Given the description of an element on the screen output the (x, y) to click on. 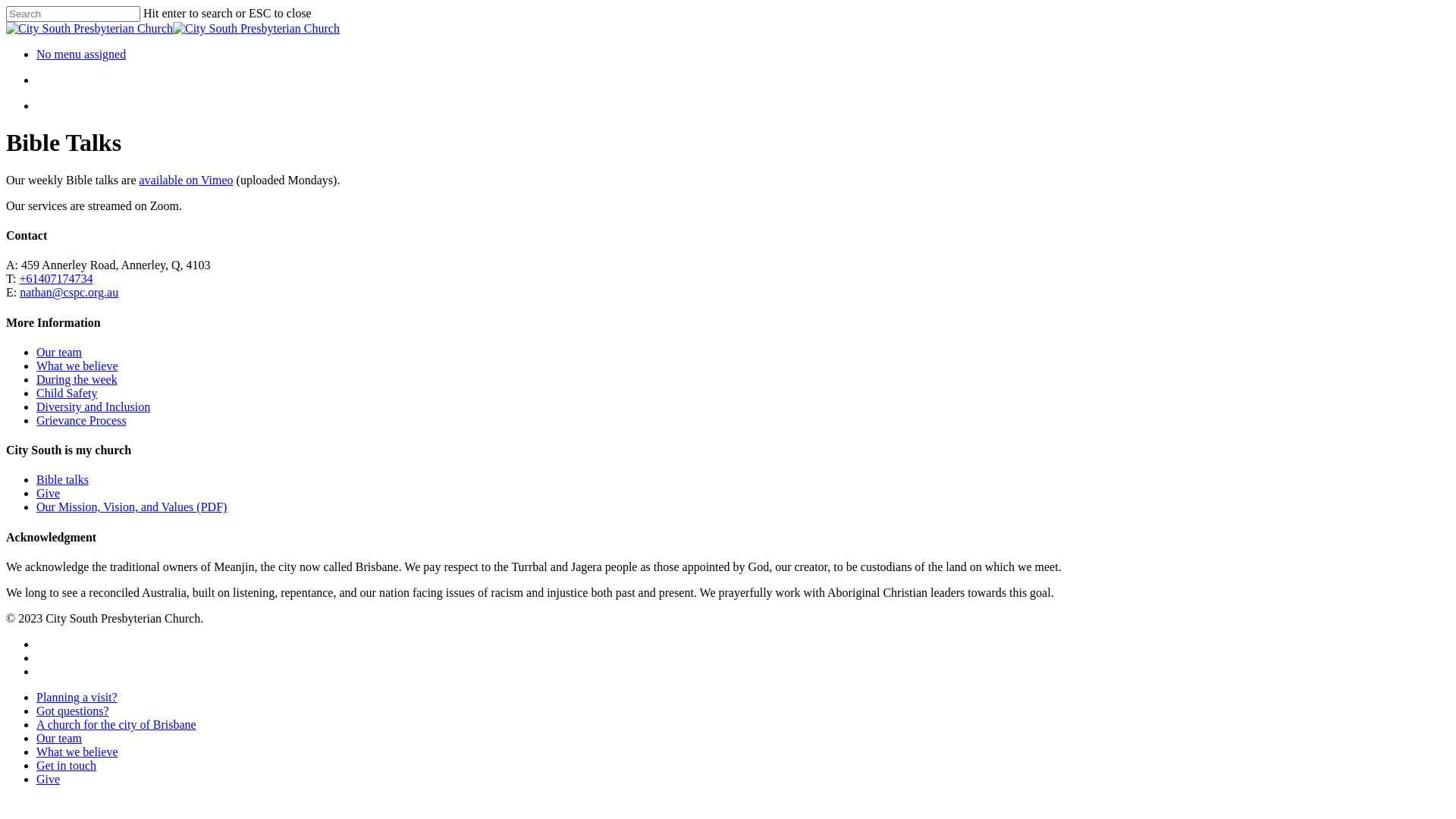
Child Safety Element type: text (66, 392)
Get in touch Element type: text (66, 765)
What we believe Element type: text (77, 751)
nathan@cspc.org.au Element type: text (68, 291)
available on Vimeo Element type: text (186, 179)
Give Element type: text (47, 492)
What we believe Element type: text (77, 365)
Our team Element type: text (58, 737)
No menu assigned Element type: text (80, 53)
Diversity and Inclusion Element type: text (93, 406)
During the week Element type: text (76, 379)
Our team Element type: text (58, 351)
Got questions? Element type: text (72, 710)
Give Element type: text (47, 778)
+61407174734 Element type: text (55, 278)
Our Mission, Vision, and Values (PDF) Element type: text (131, 506)
Bible talks Element type: text (62, 479)
Grievance Process Element type: text (81, 420)
Planning a visit? Element type: text (76, 696)
A church for the city of Brisbane Element type: text (116, 724)
